Given the description of an element on the screen output the (x, y) to click on. 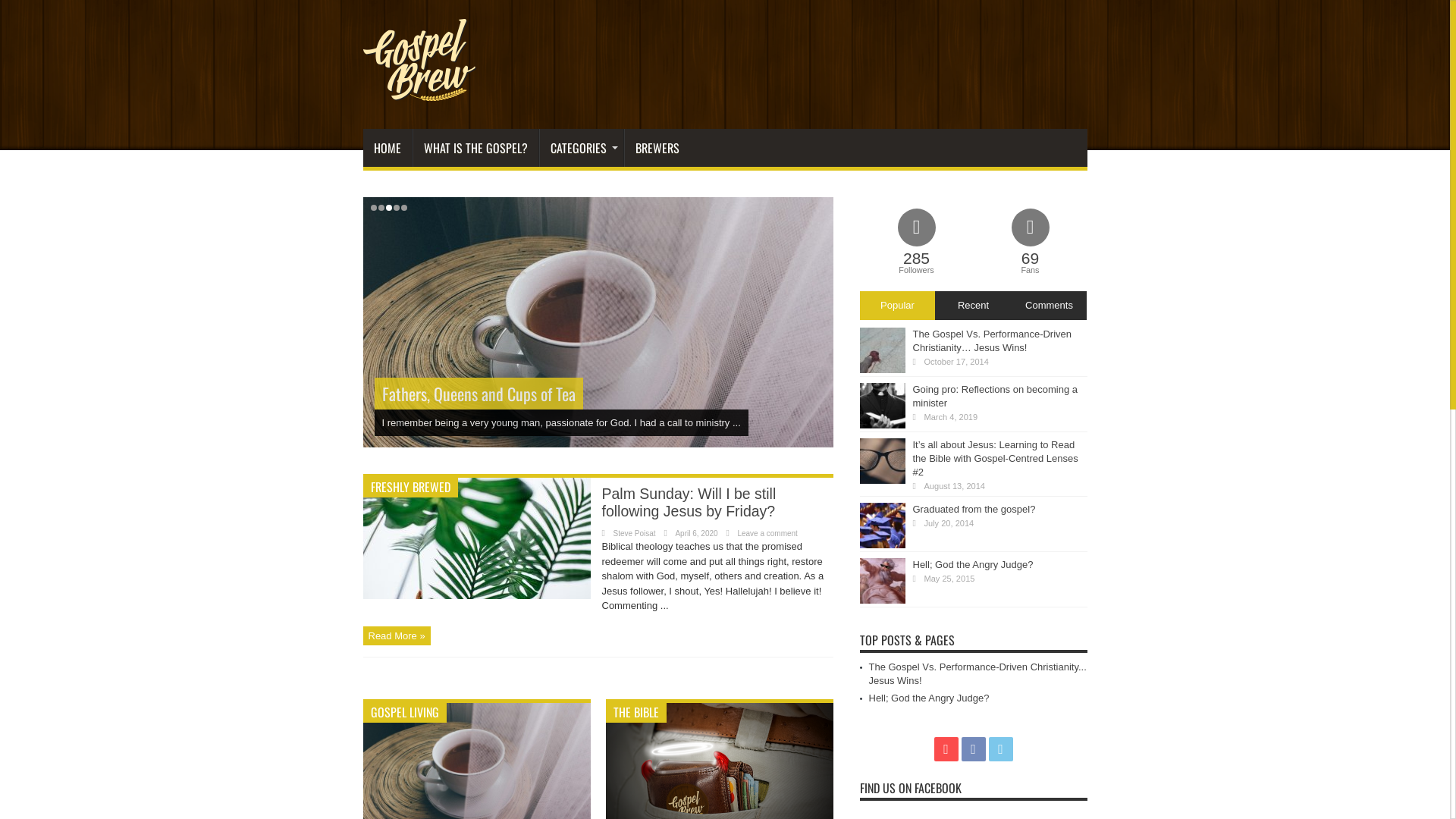
Permalink to Going pro: Reflections on becoming a minister Element type: hover (882, 424)
Steve Poisat Element type: text (633, 533)
WHAT IS THE GOSPEL? Element type: text (475, 147)
285
Followers Element type: text (916, 242)
4 Element type: text (395, 207)
3 Element type: text (388, 207)
2 Element type: text (380, 207)
Permalink to Graduated from the gospel? Element type: hover (882, 544)
Comments Element type: text (1048, 305)
BREWERS Element type: text (656, 147)
69
Fans Element type: text (1030, 242)
THE BIBLE Element type: text (635, 711)
HOME Element type: text (386, 147)
5 Element type: text (403, 207)
Leave a comment Element type: text (767, 533)
Hell; God the Angry Judge? Element type: text (929, 697)
Permalink to Hell; God the Angry Judge? Element type: hover (882, 599)
GOSPEL LIVING Element type: text (404, 711)
Popular Element type: text (897, 305)
Graduated from the gospel? Element type: text (974, 508)
CATEGORIES Element type: text (580, 147)
Palm Sunday: Will I be still following Jesus by Friday? Element type: text (689, 502)
Hell; God the Angry Judge? Element type: text (973, 564)
Gospel Brew Element type: hover (418, 90)
Recent Element type: text (972, 305)
1 Element type: text (373, 207)
Going pro: Reflections on becoming a minister Element type: text (995, 395)
The Script Element type: text (412, 393)
